Given the description of an element on the screen output the (x, y) to click on. 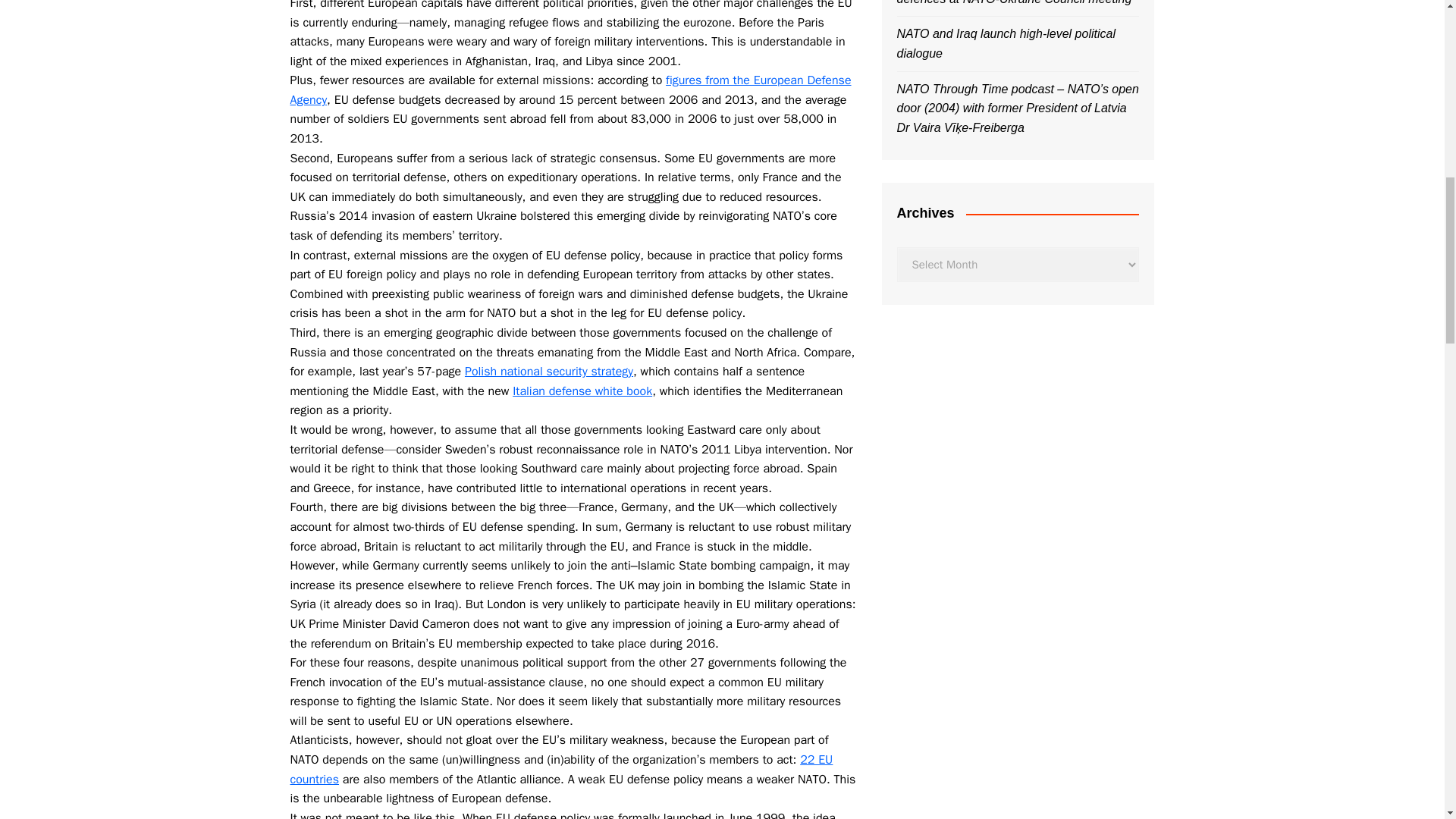
22 EU countries (560, 769)
Polish national security strategy (548, 371)
Italian defense white book (582, 391)
figures from the European Defense Agency (569, 89)
